Given the description of an element on the screen output the (x, y) to click on. 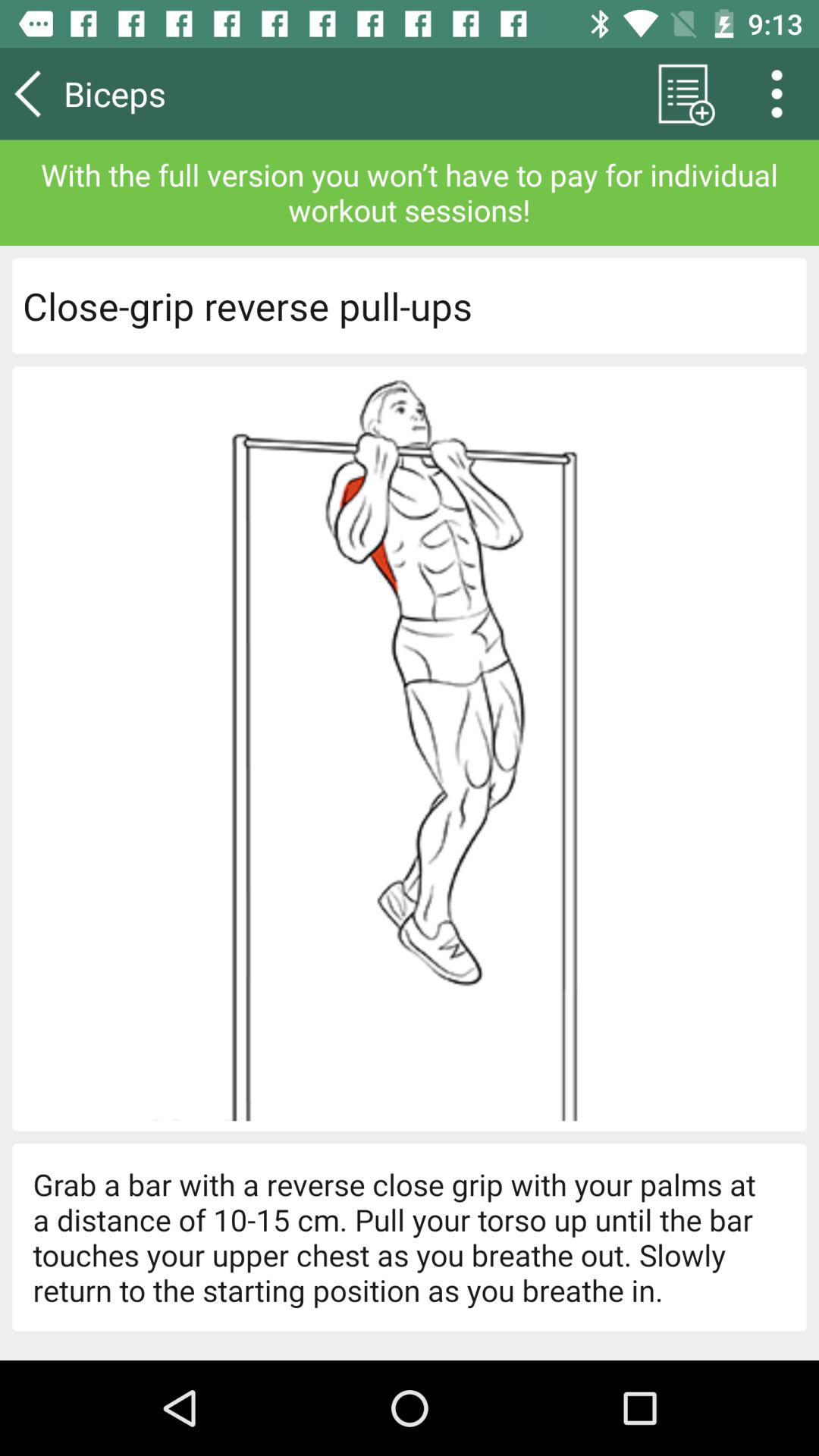
launch the item next to the biceps icon (682, 93)
